Given the description of an element on the screen output the (x, y) to click on. 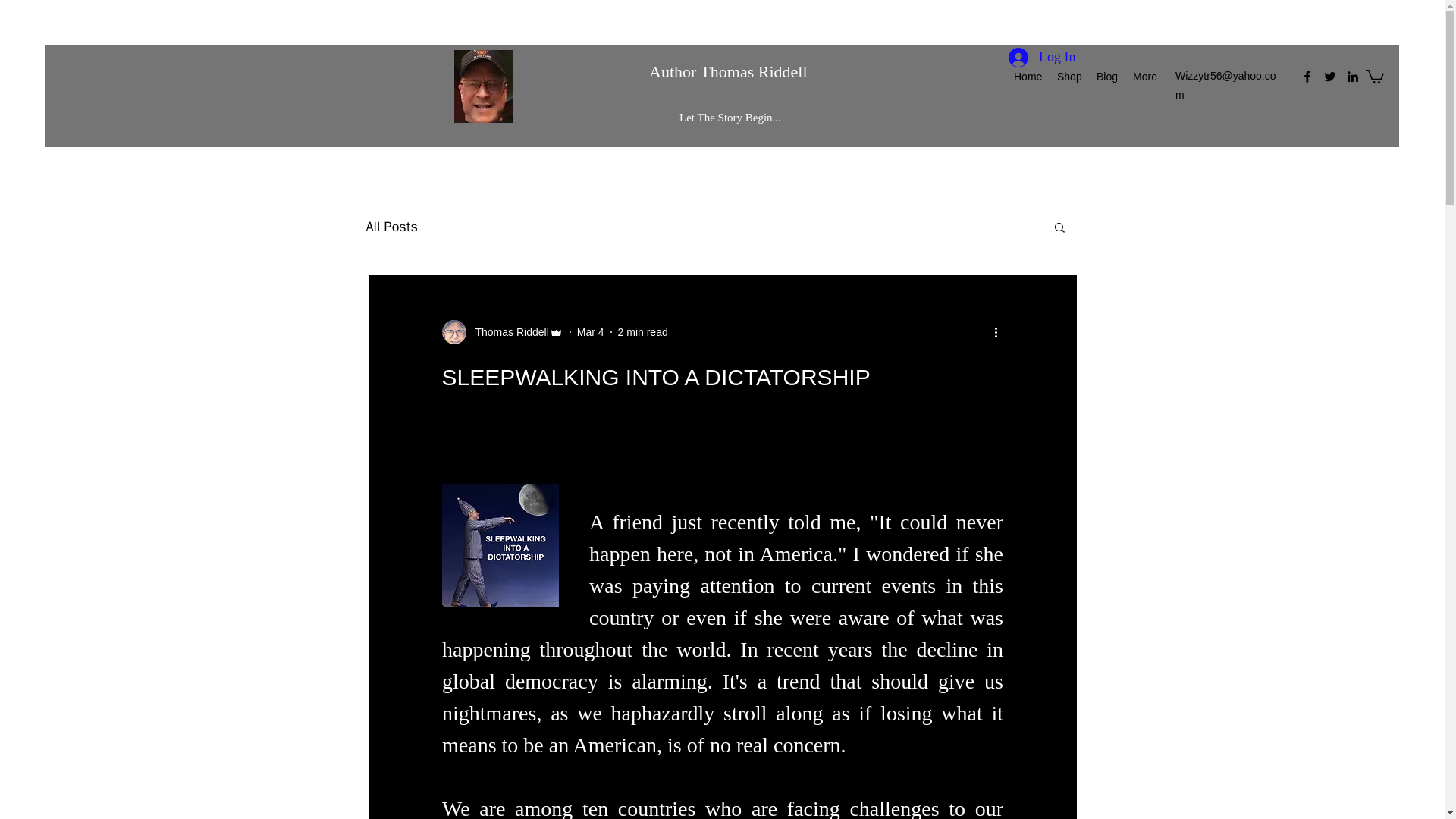
Mar 4 (590, 331)
Blog (1107, 76)
Log In (1041, 57)
Thomas Riddell (506, 332)
Thomas Riddell (501, 331)
Home (1027, 76)
Shop (1069, 76)
All Posts (390, 226)
2 min read (642, 331)
